Given the description of an element on the screen output the (x, y) to click on. 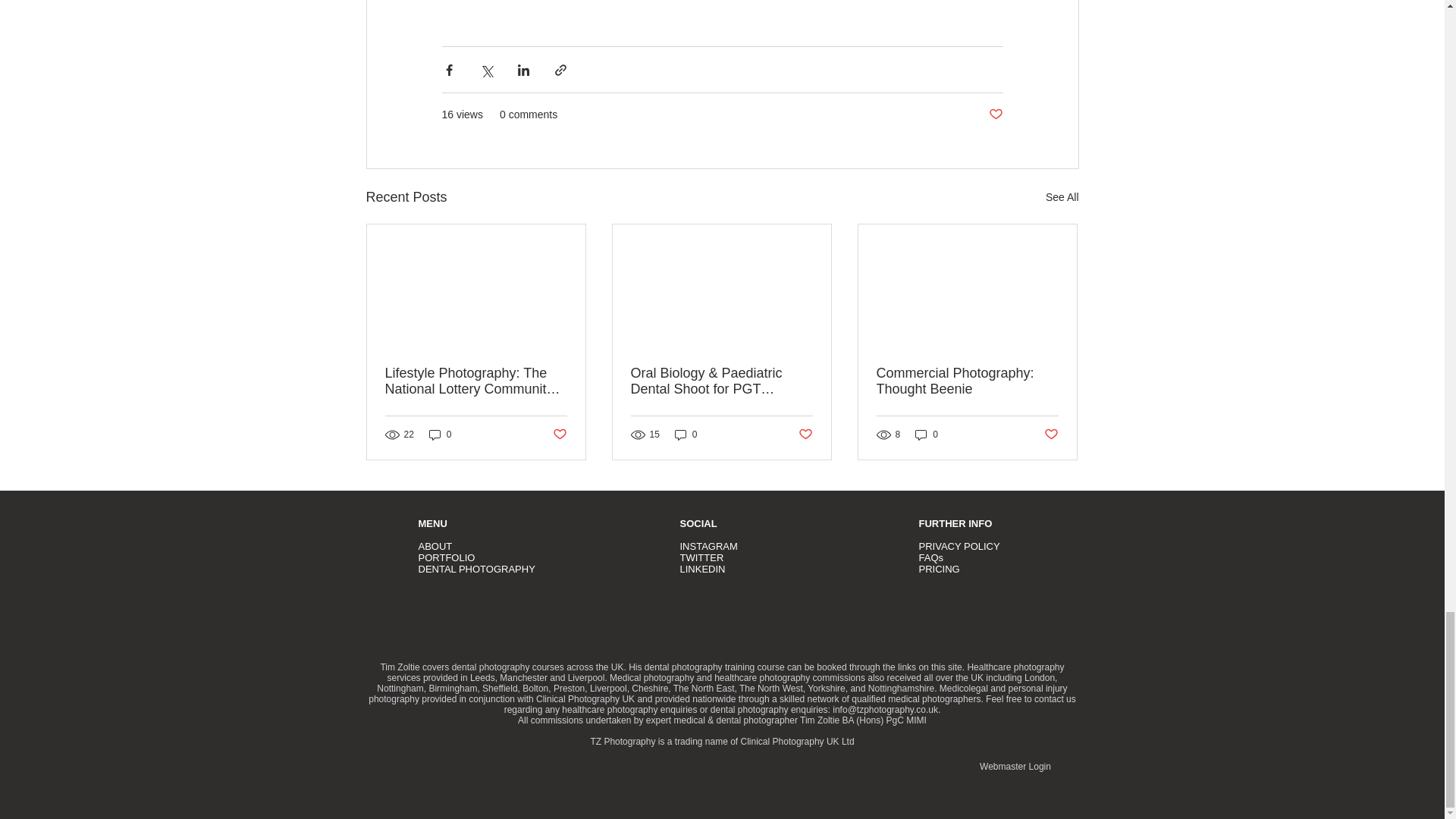
TWITTER (701, 557)
Post not marked as liked (804, 434)
DENTAL PHOTOGRAPHY (477, 568)
PORTFOLIO (447, 557)
0 (440, 434)
Commercial Photography: Thought Beenie (967, 381)
LINKEDIN (702, 568)
Post not marked as liked (558, 434)
Lifestyle Photography: The National Lottery Community Fund (476, 381)
See All (1061, 197)
